Given the description of an element on the screen output the (x, y) to click on. 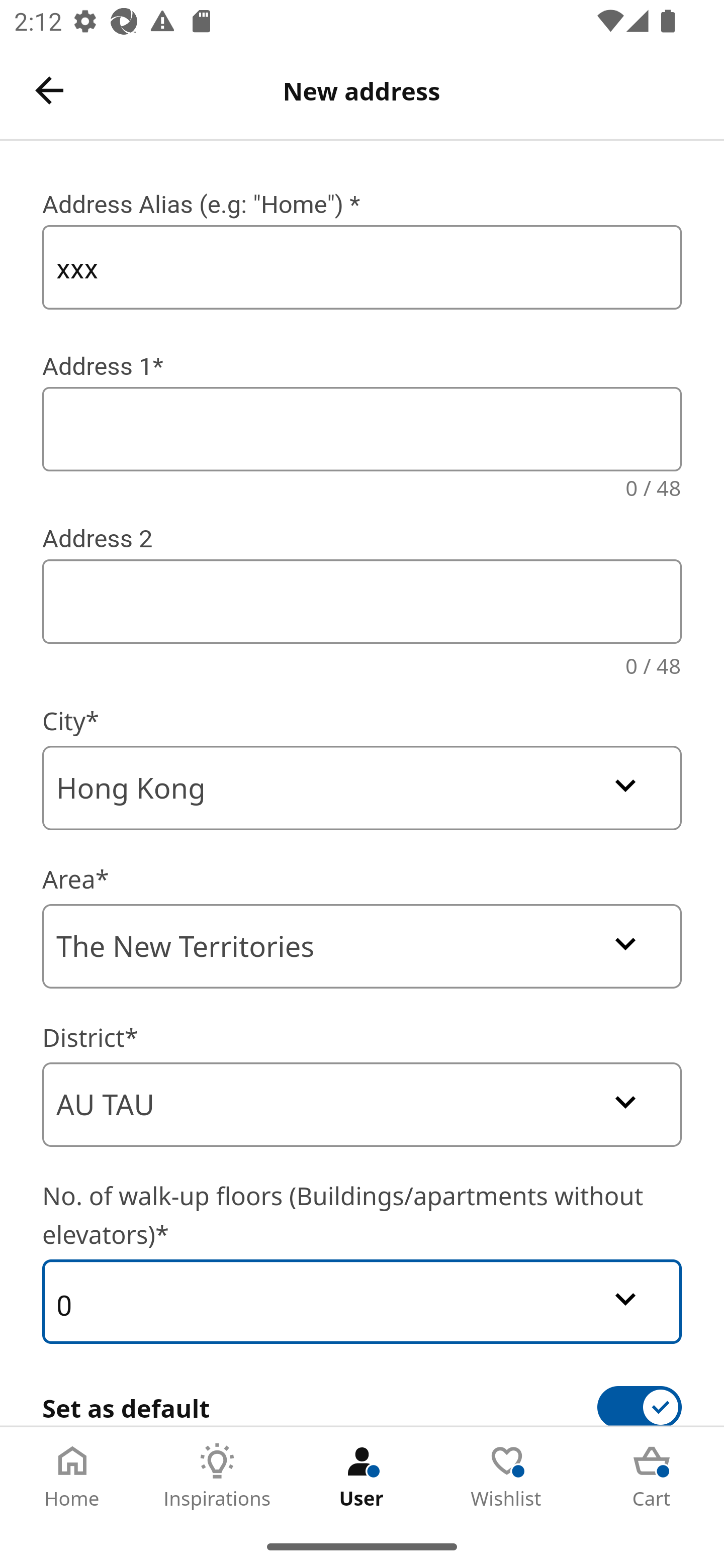
xxx (361, 266)
Hong Kong (361, 787)
The New Territories (361, 945)
AU TAU (361, 1104)
0 (361, 1301)
Home
Tab 1 of 5 (72, 1476)
Inspirations
Tab 2 of 5 (216, 1476)
User
Tab 3 of 5 (361, 1476)
Wishlist
Tab 4 of 5 (506, 1476)
Cart
Tab 5 of 5 (651, 1476)
